Given the description of an element on the screen output the (x, y) to click on. 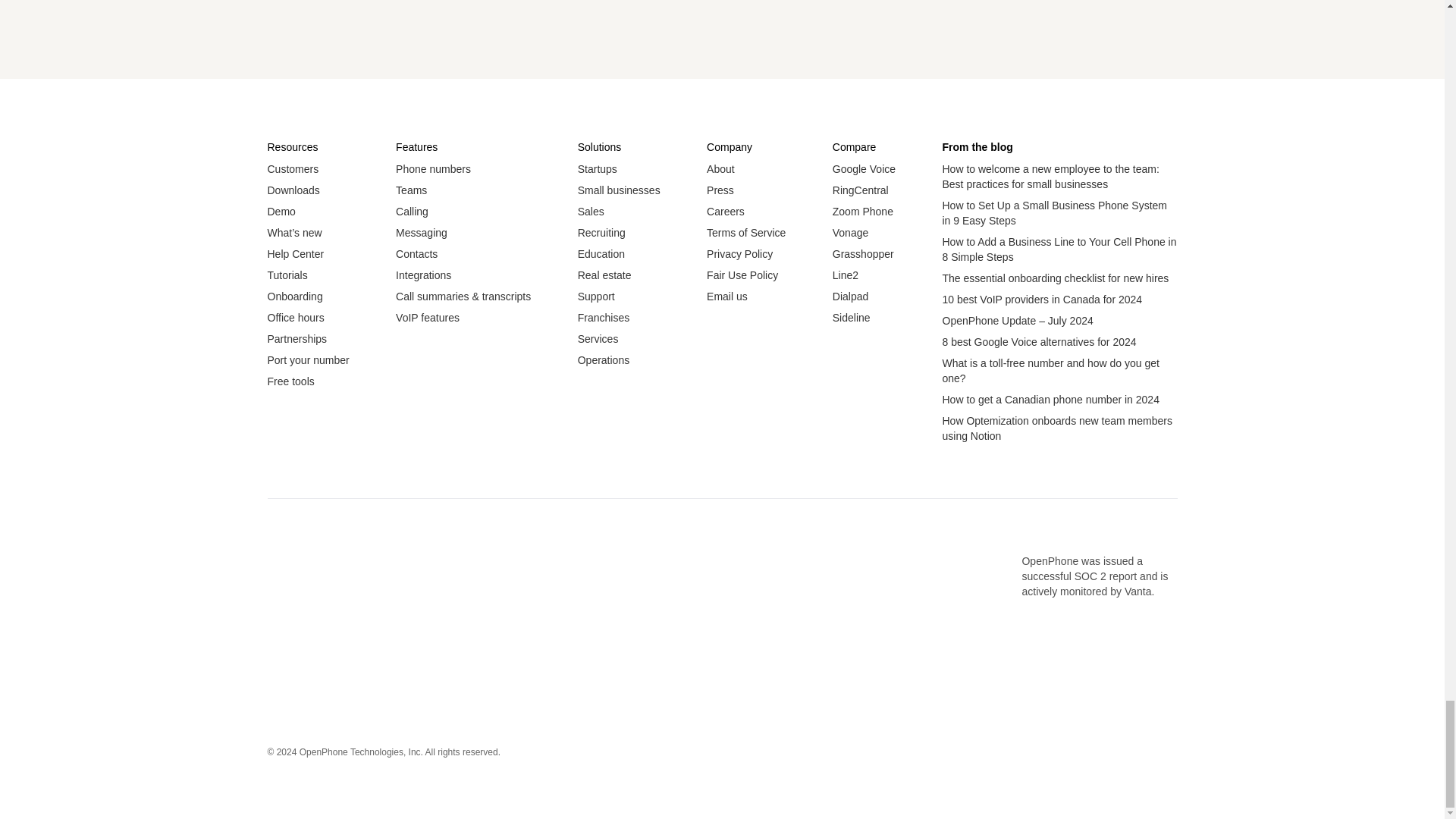
Logo-1 (380, 603)
